Given the description of an element on the screen output the (x, y) to click on. 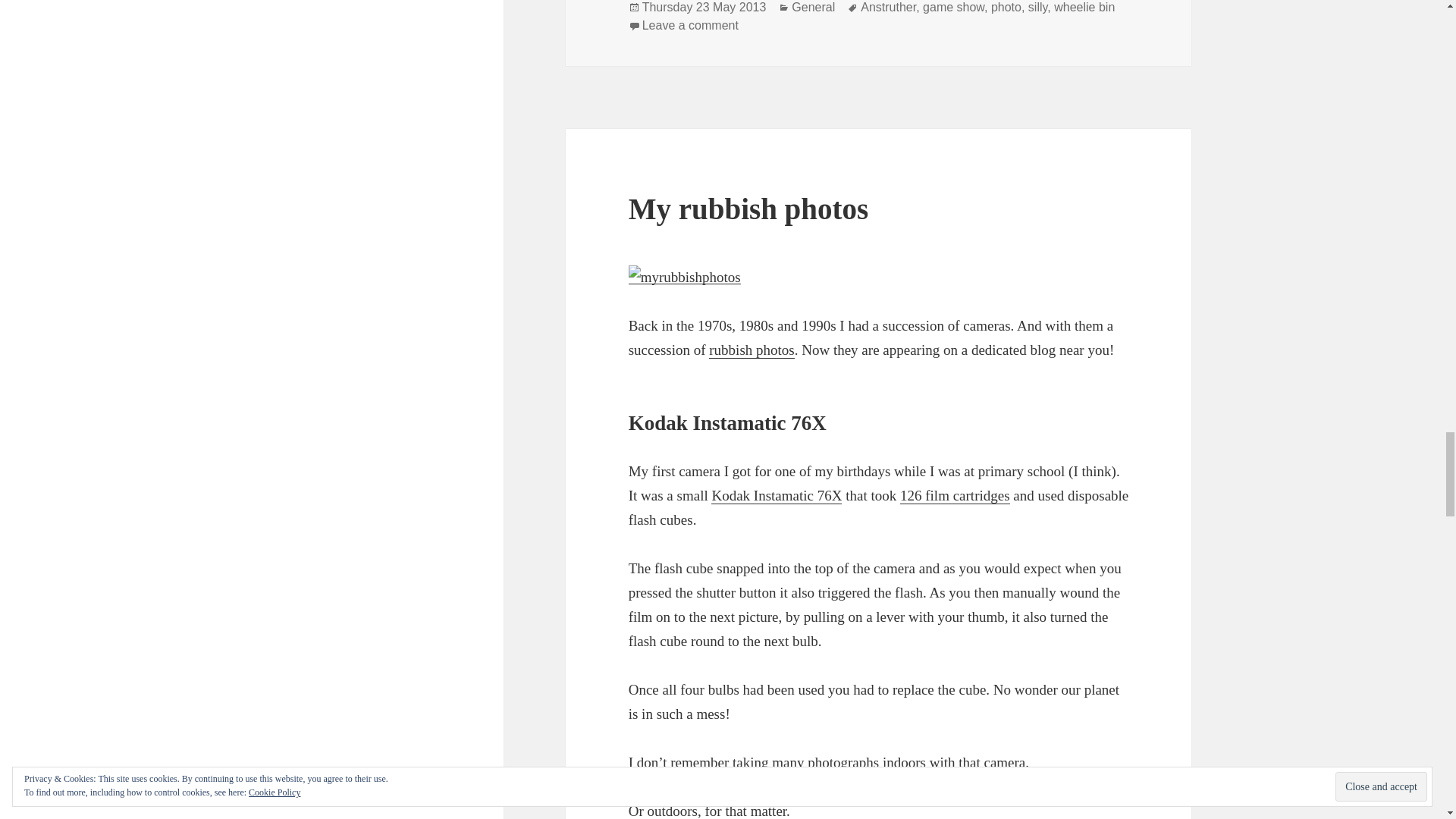
myrubbishphotos (684, 277)
